Given the description of an element on the screen output the (x, y) to click on. 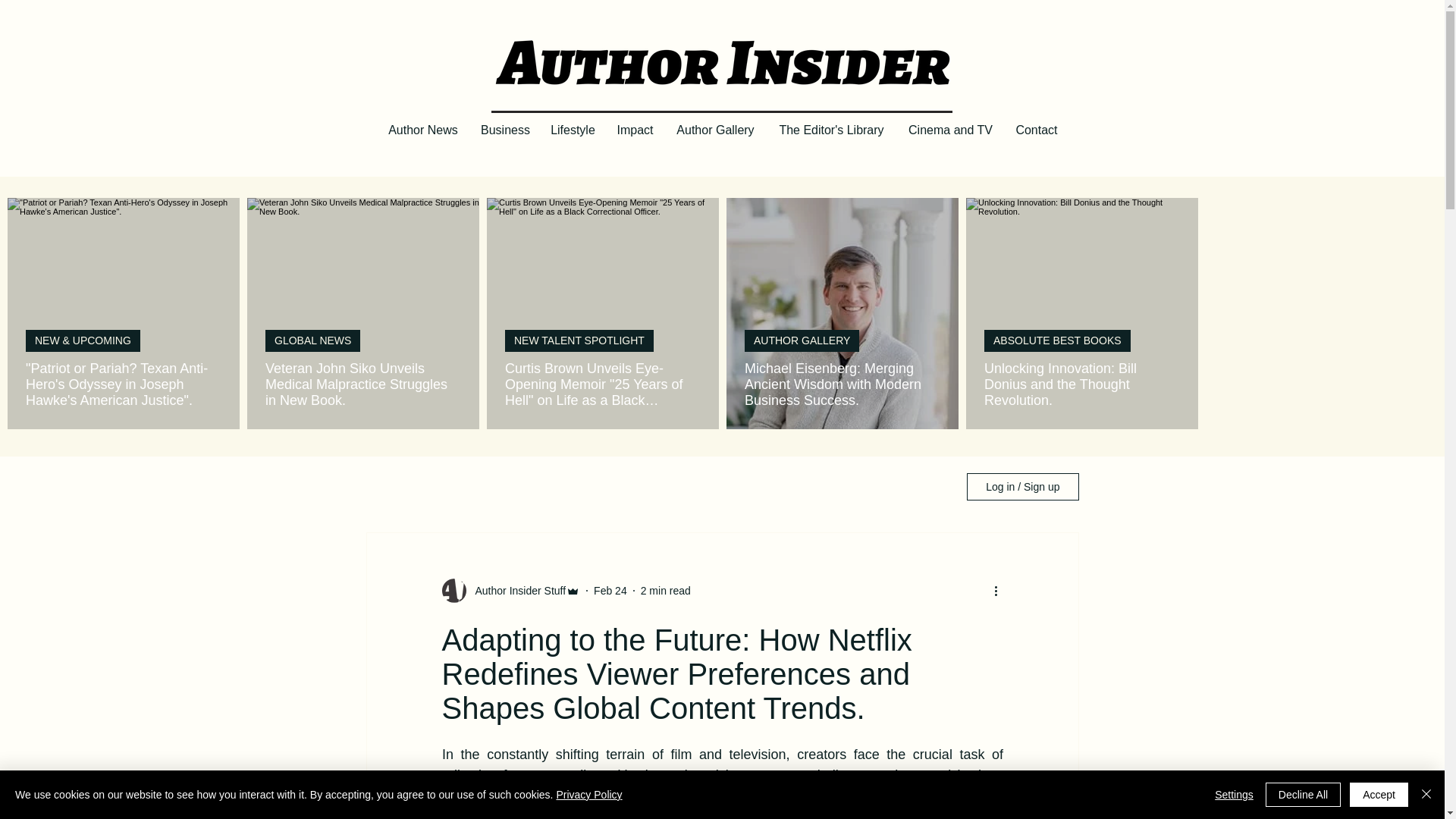
The Editor's Library (830, 129)
Author News (422, 129)
Impact (634, 129)
Feb 24 (610, 589)
NEW TALENT SPOTLIGHT (579, 341)
Business (505, 129)
GLOBAL NEWS (311, 341)
